Given the description of an element on the screen output the (x, y) to click on. 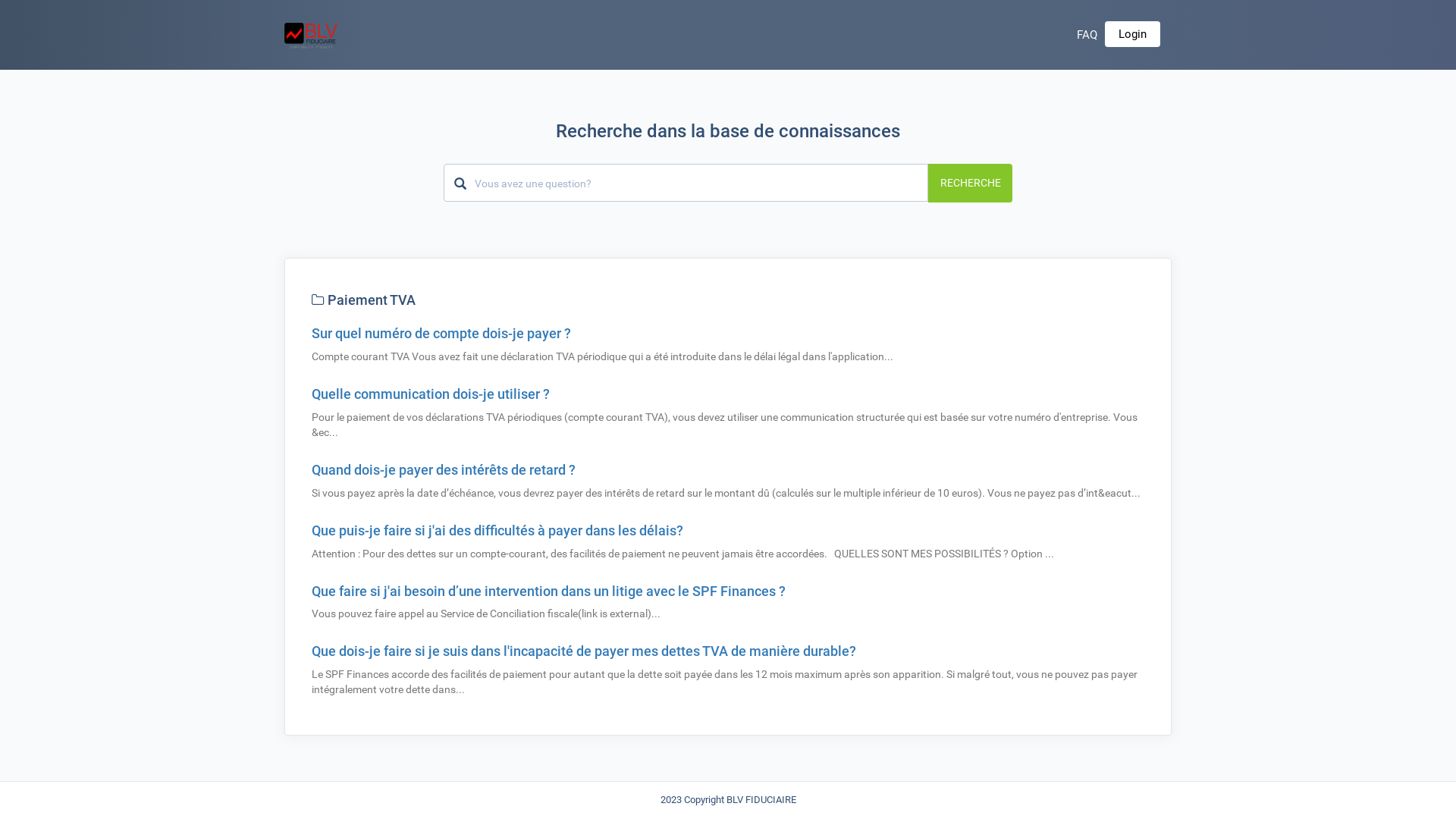
RECHERCHE Element type: text (970, 182)
FAQ Element type: text (1086, 34)
Login Element type: text (1132, 34)
Quelle communication dois-je utiliser ? Element type: text (430, 393)
